Given the description of an element on the screen output the (x, y) to click on. 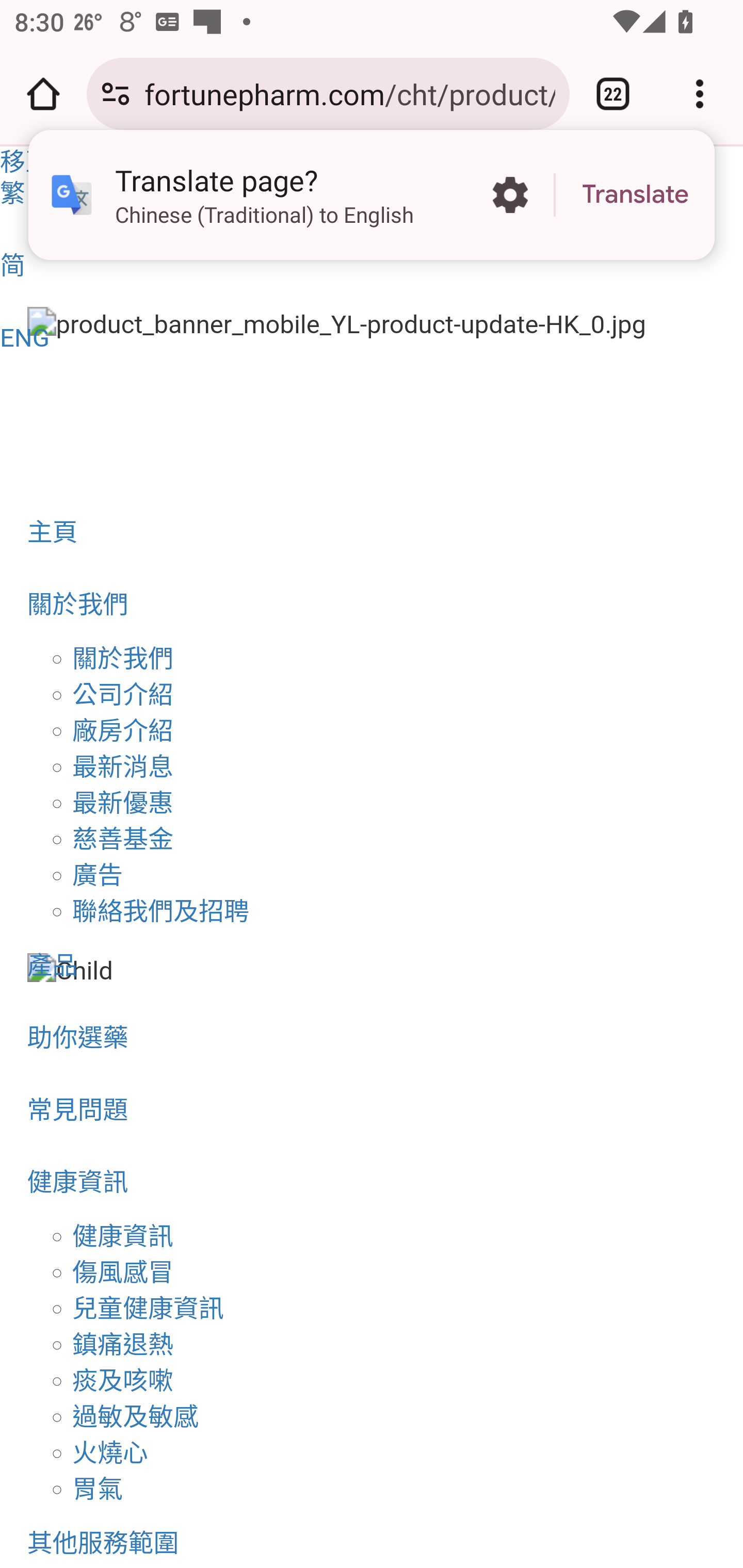
Open the home page (43, 93)
Connection is secure (115, 93)
Switch or close tabs (612, 93)
Customize and control Google Chrome (699, 93)
Translate (634, 195)
More options in the Translate page? (509, 195)
ENG (371, 337)
主頁 (371, 531)
關於我們 (371, 604)
關於我們 (123, 658)
公司介紹 (123, 694)
廠房介紹 (123, 731)
最新消息 (123, 767)
最新優惠 (123, 803)
慈善基金 (123, 839)
廣告 (98, 875)
聯絡我們及招聘 (161, 911)
產品 (371, 965)
助你選藥 (371, 1037)
常見問題 (371, 1109)
健康資訊 (371, 1181)
健康資訊 (123, 1235)
傷風感冒 (123, 1271)
兒童健康資訊 (148, 1308)
鎮痛退熱 (123, 1344)
痰及咳嗽 (123, 1380)
過敏及敏感 (135, 1416)
火燒心 (110, 1452)
胃氣 (98, 1488)
其他服務範圍 (371, 1536)
